Given the description of an element on the screen output the (x, y) to click on. 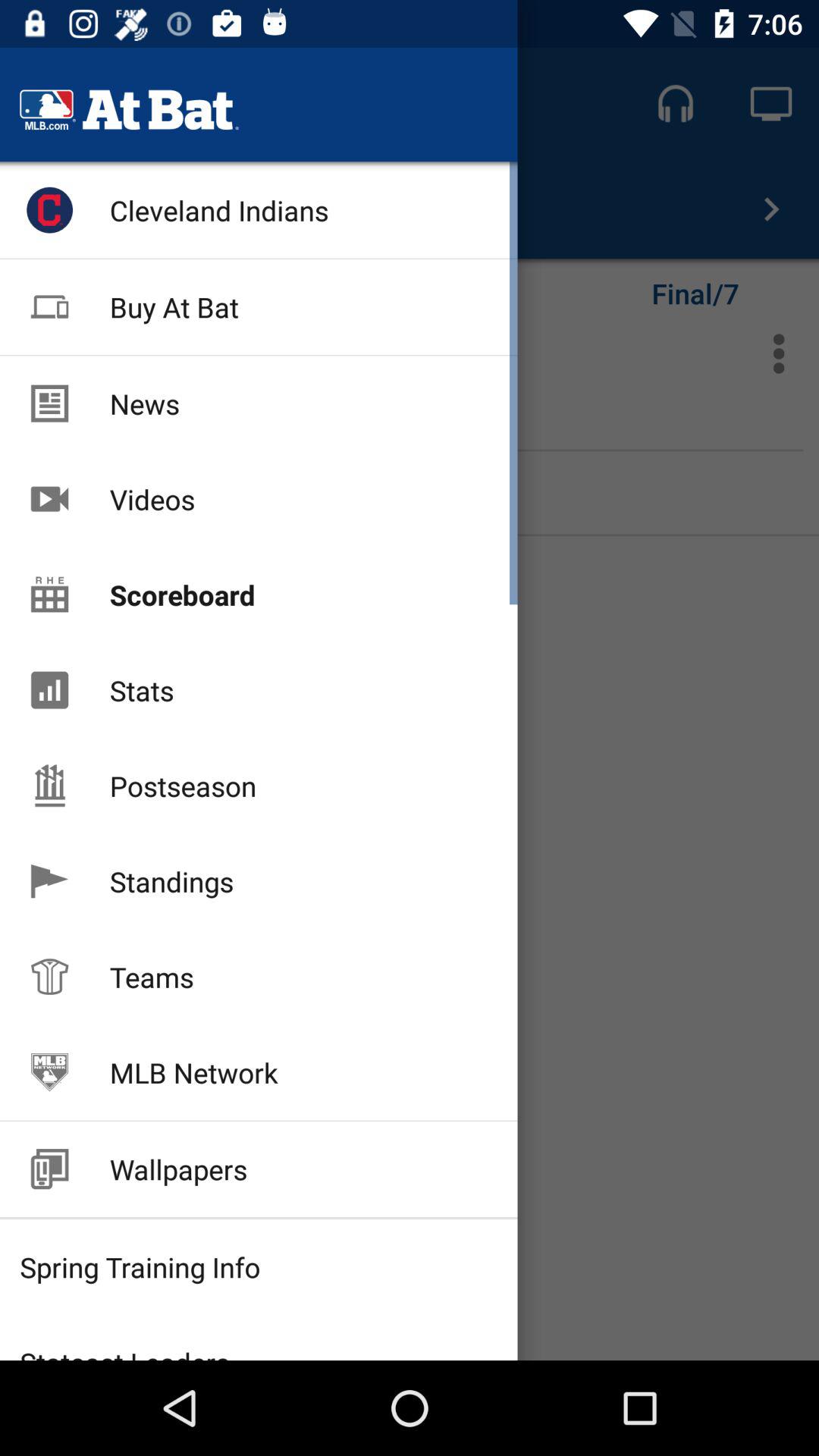
click on icon left to wallpapers (49, 1168)
